Given the description of an element on the screen output the (x, y) to click on. 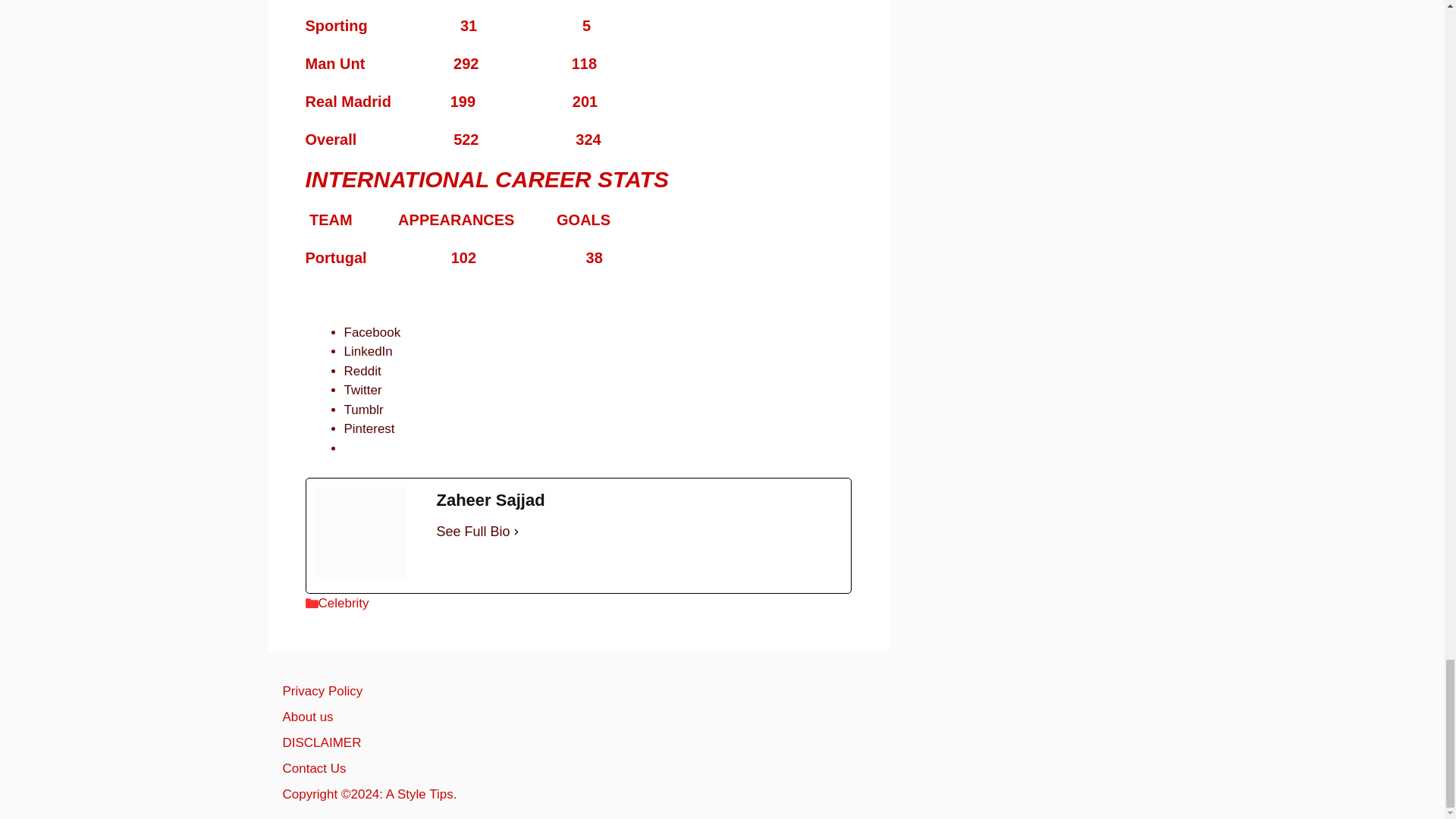
About us (307, 716)
Privacy Policy (322, 690)
Twitter (362, 390)
Pinterest (368, 428)
Tumblr (363, 409)
LinkedIn (368, 350)
Click to share on Twitter (362, 390)
A Style Tips (418, 794)
Click to share on Reddit (362, 370)
Facebook (372, 332)
Contact Us (314, 768)
DISCLAIMER (321, 742)
Click to share on Tumblr (363, 409)
Click to share on Facebook (372, 332)
See Full Bio (473, 531)
